Given the description of an element on the screen output the (x, y) to click on. 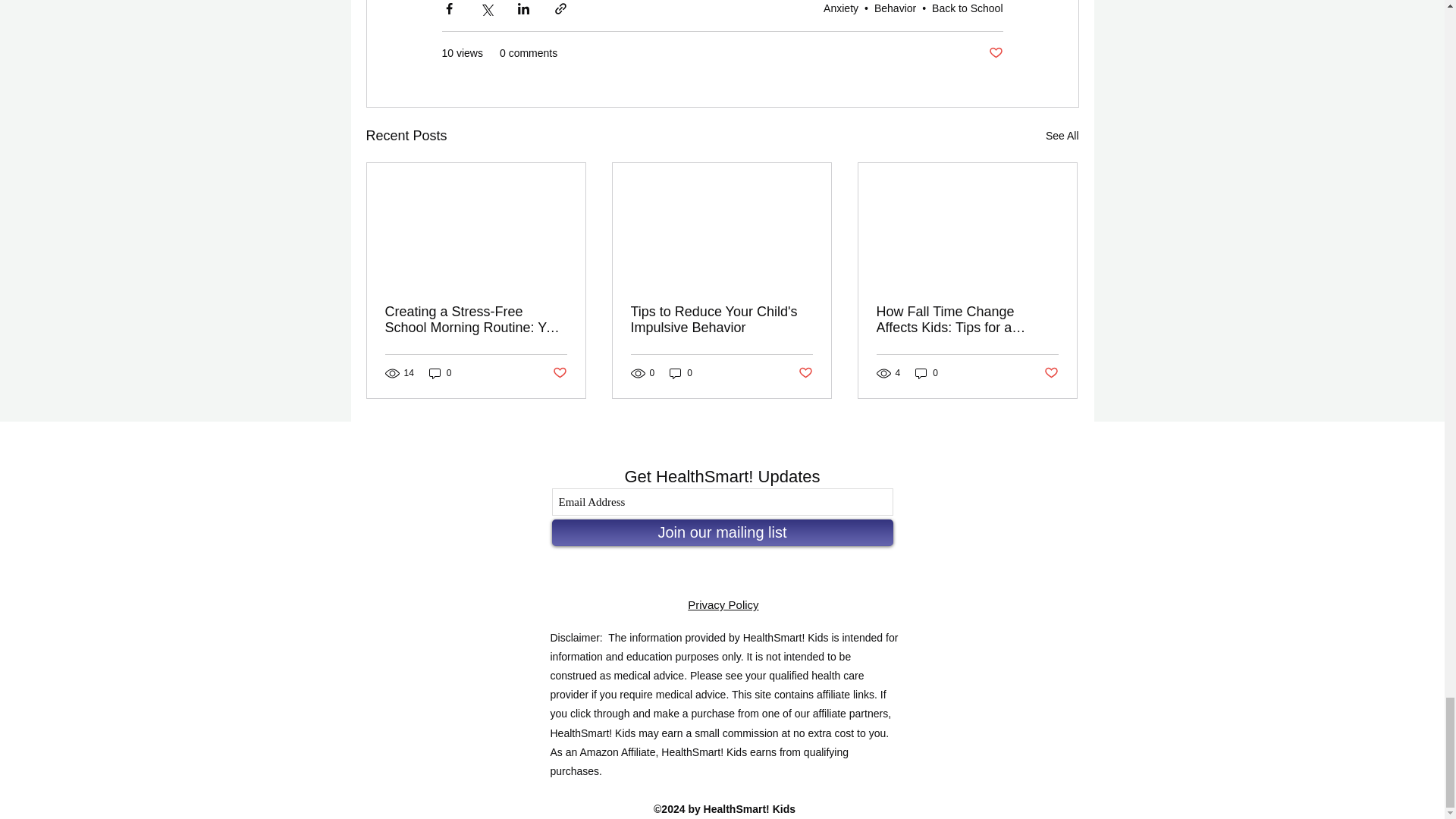
Post not marked as liked (558, 373)
0 (681, 373)
Back to School (967, 8)
Post not marked as liked (804, 373)
Anxiety (841, 8)
Behavior (895, 8)
0 (440, 373)
Post not marked as liked (995, 53)
Creating a Stress-Free School Morning Routine: Your Guide (476, 319)
See All (1061, 136)
Tips to Reduce Your Child's Impulsive Behavior (721, 319)
